Given the description of an element on the screen output the (x, y) to click on. 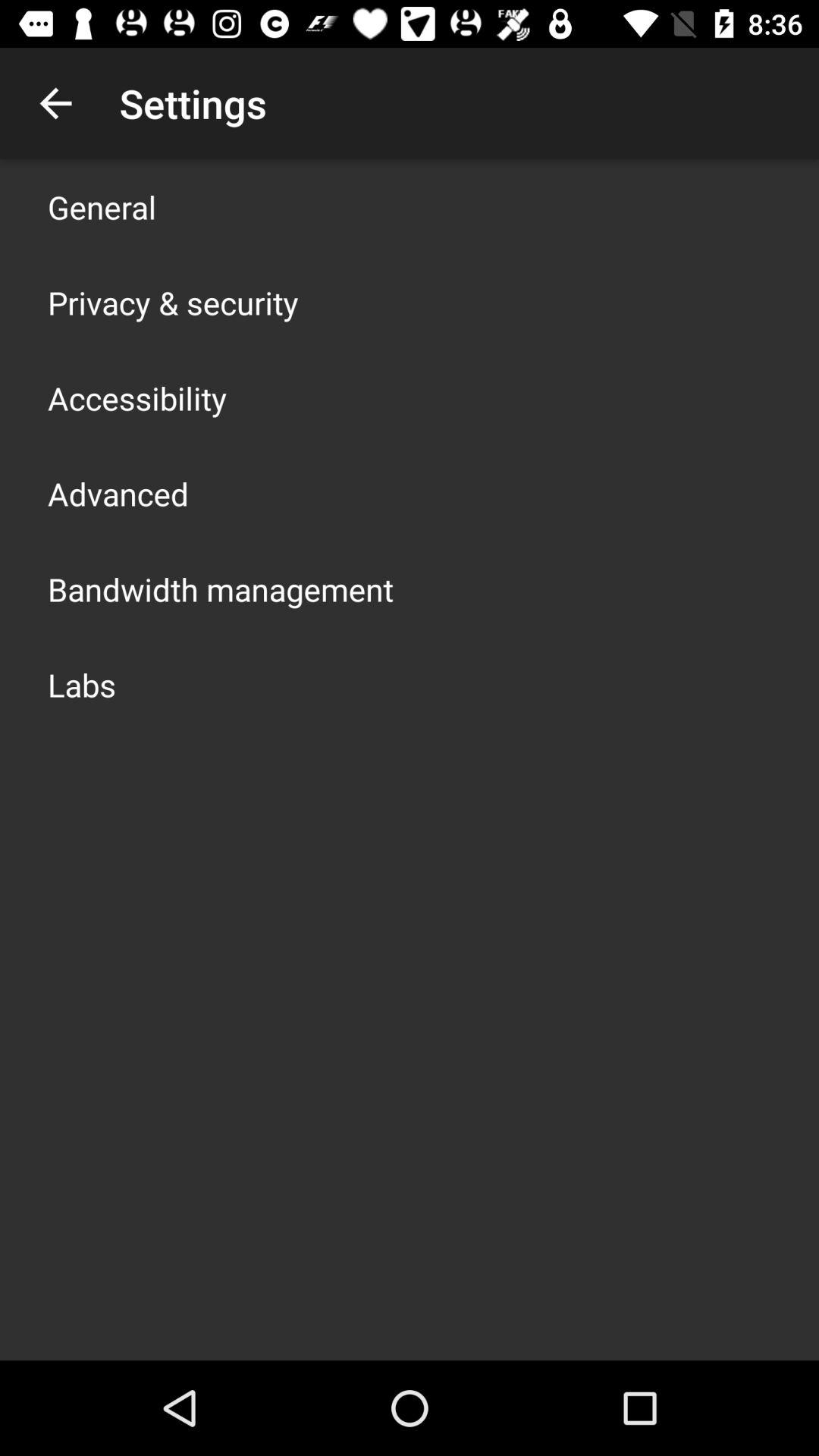
select icon below the accessibility (117, 493)
